Given the description of an element on the screen output the (x, y) to click on. 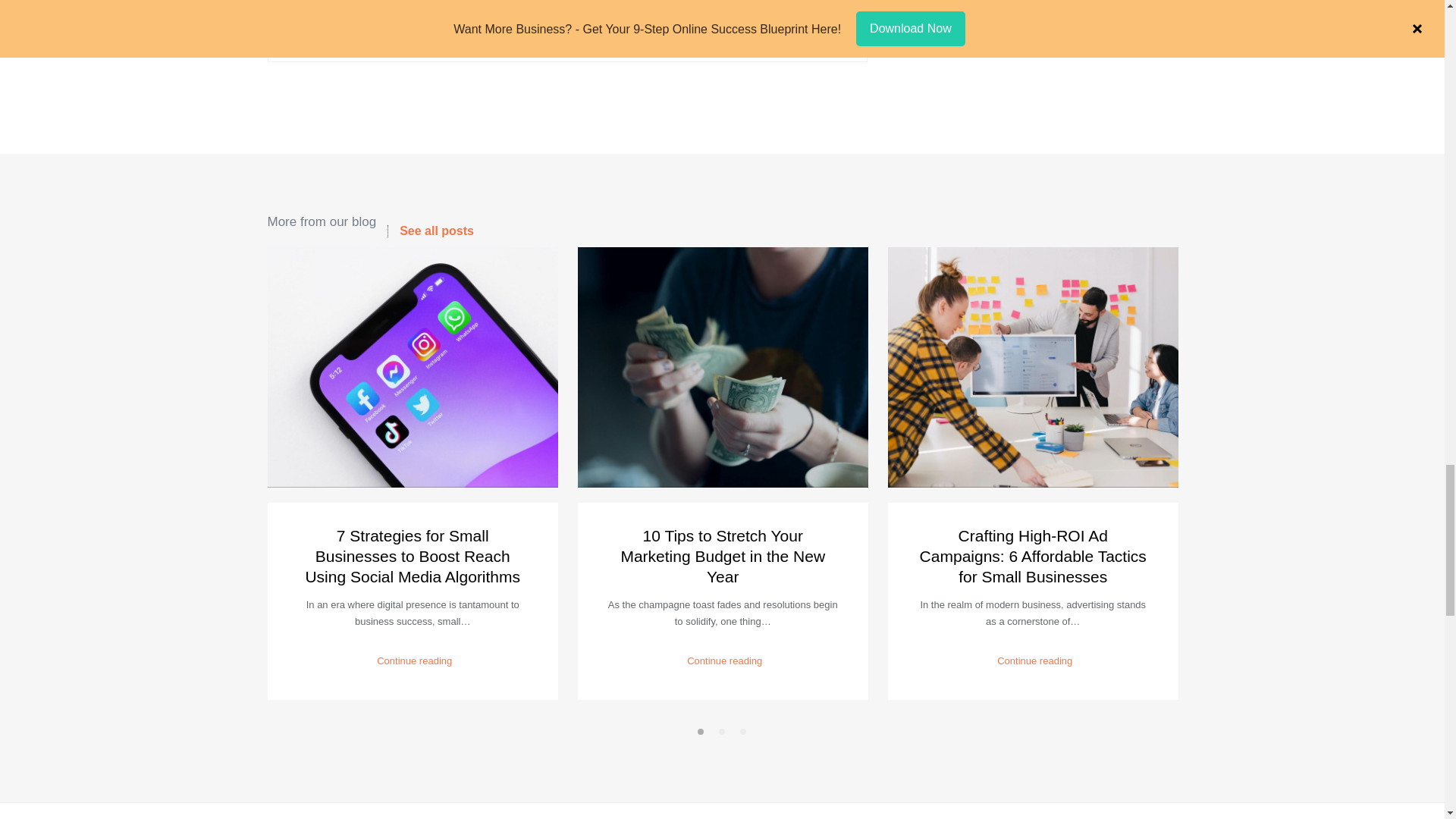
Social-Media-Algorithms (411, 366)
Marketing-Budget (722, 366)
Leverage-Social-Media-Advertising (1031, 366)
